Given the description of an element on the screen output the (x, y) to click on. 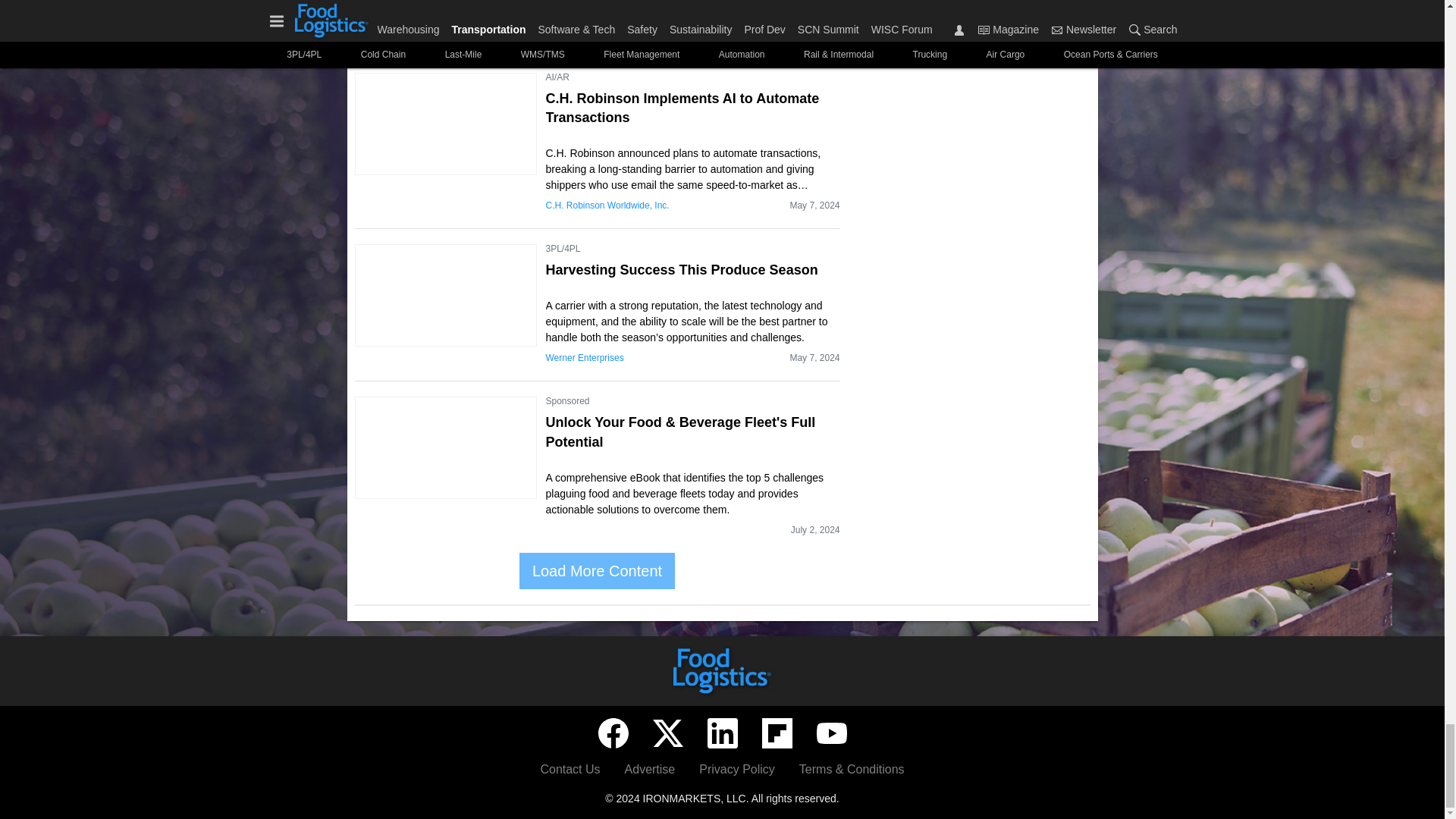
YouTube icon (830, 733)
Facebook icon (611, 733)
LinkedIn icon (721, 733)
Flipboard icon (776, 733)
Twitter X icon (667, 733)
